Given the description of an element on the screen output the (x, y) to click on. 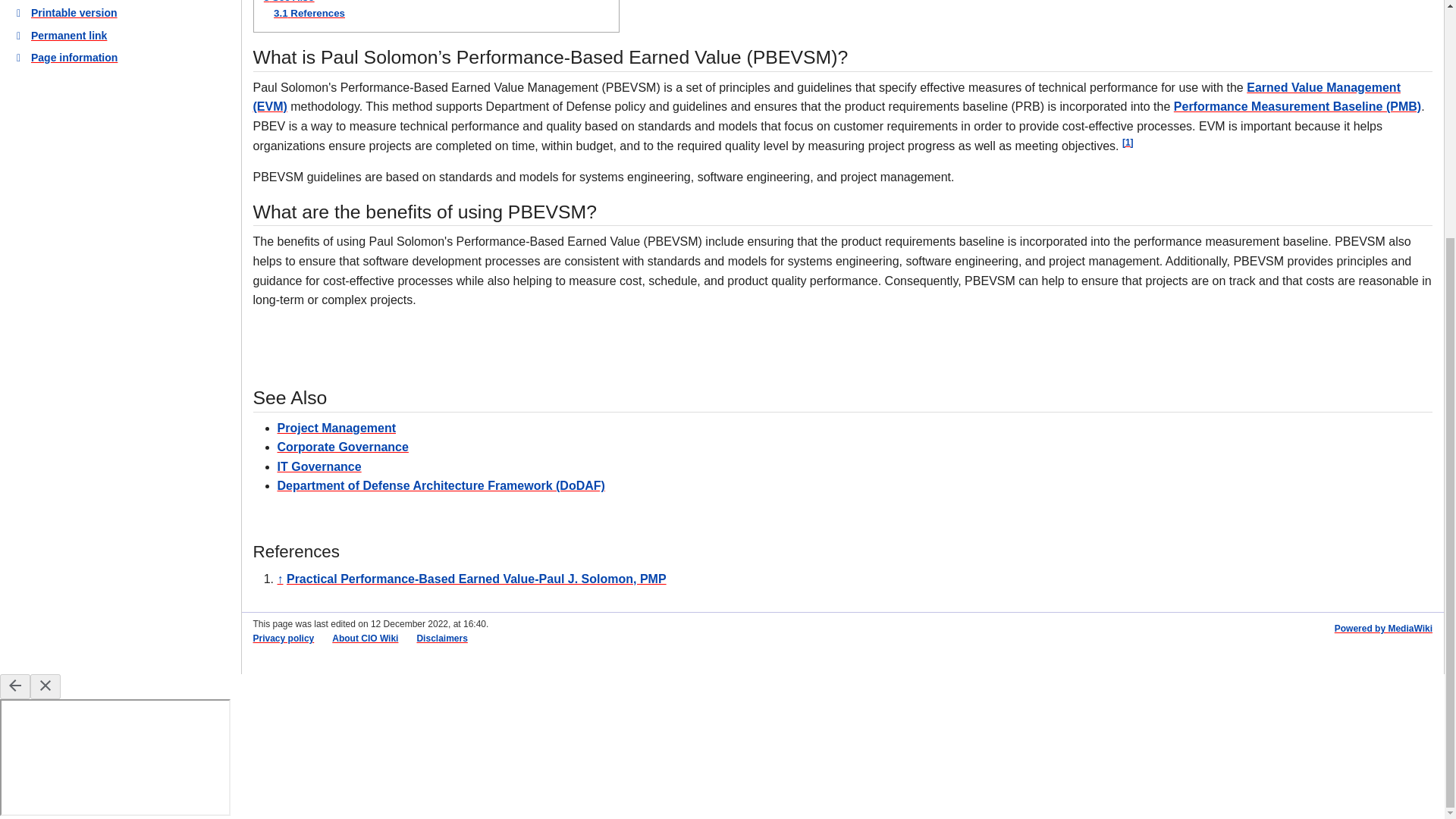
Printable version (120, 12)
3 See Also (288, 1)
Permanent link (120, 35)
Page information (120, 57)
3.1 References (309, 12)
